Given the description of an element on the screen output the (x, y) to click on. 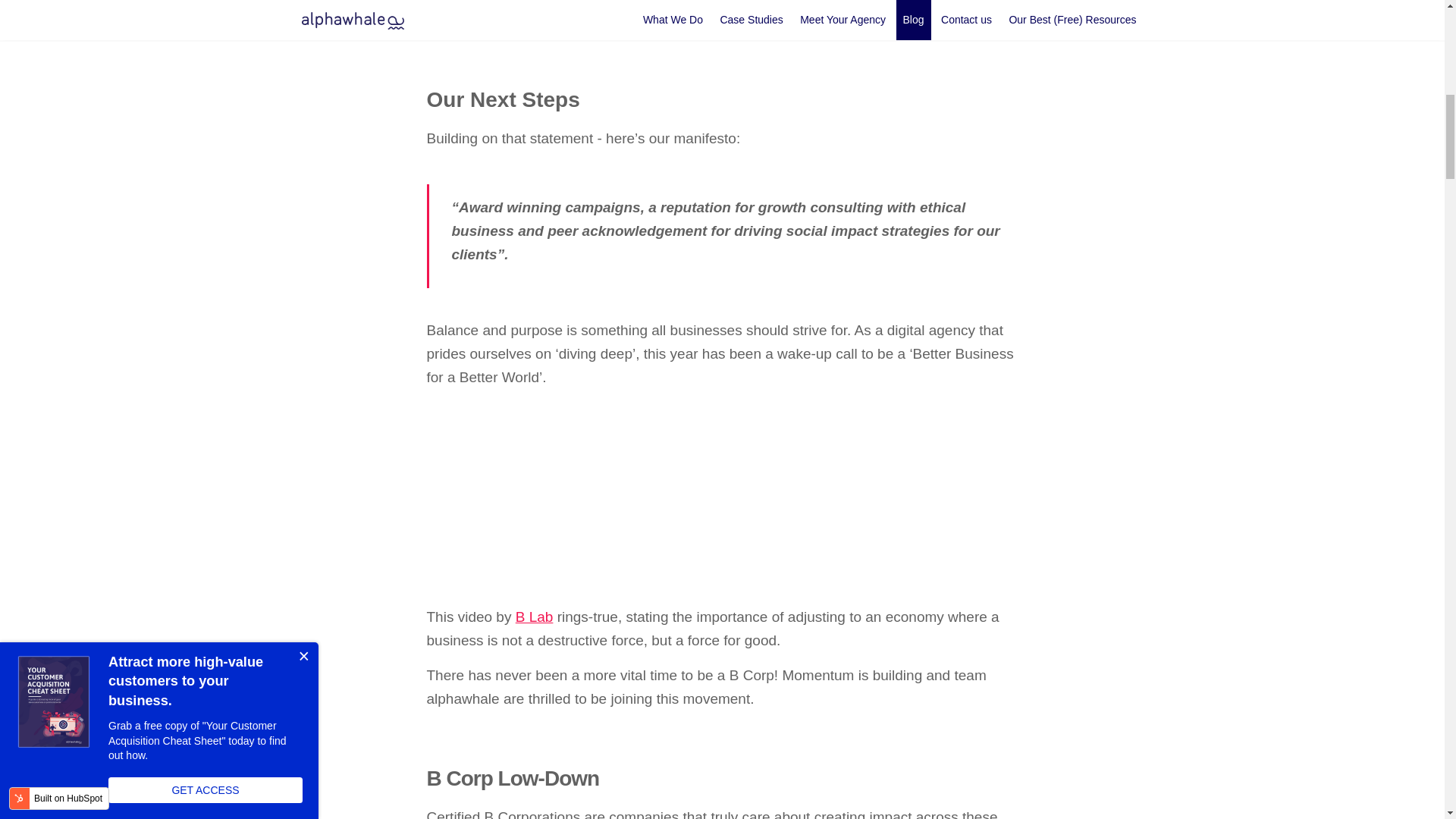
B Lab (534, 616)
